Given the description of an element on the screen output the (x, y) to click on. 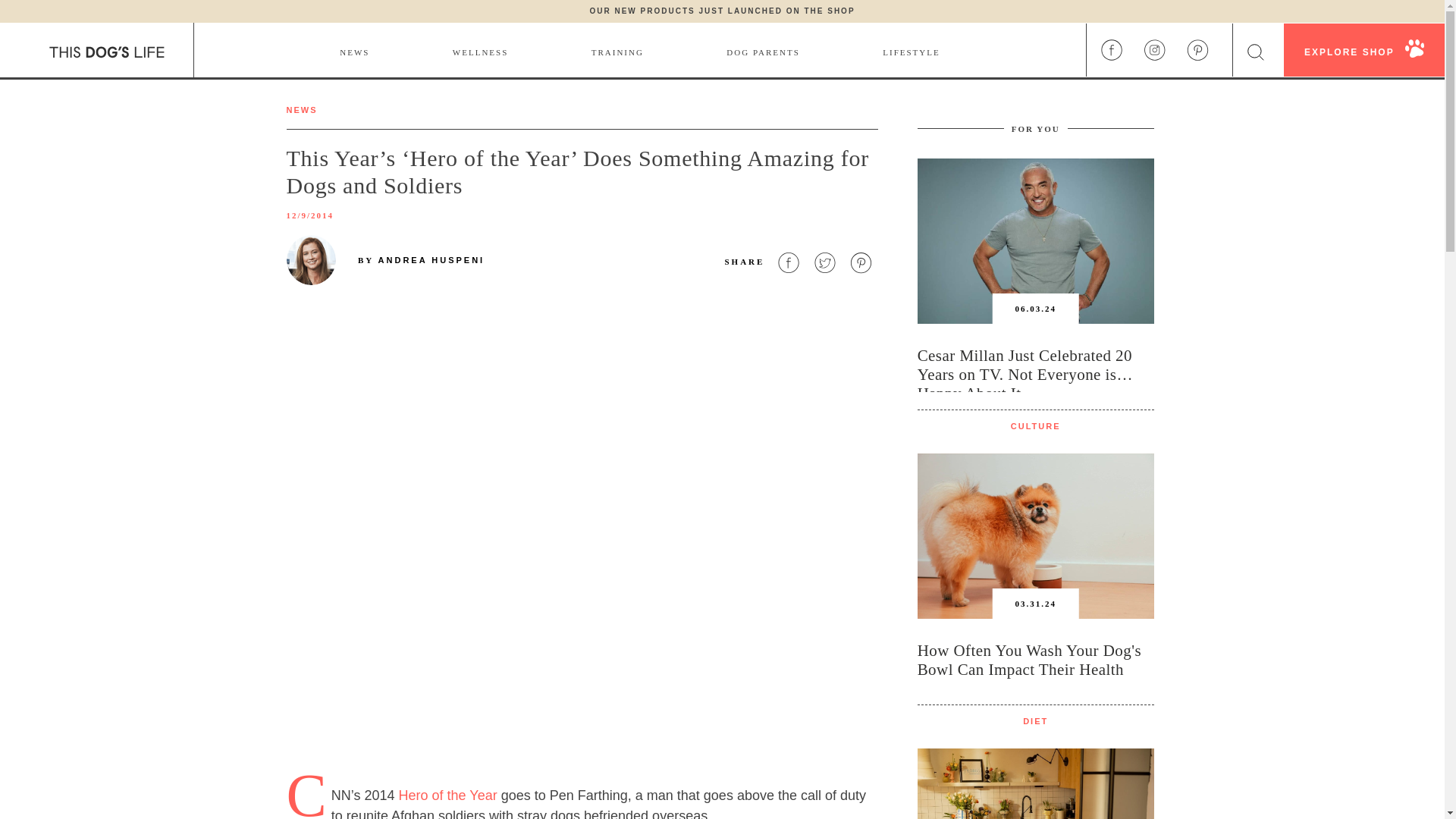
WELLNESS (480, 49)
TRAINING (617, 49)
LIFESTYLE (910, 49)
DOG PARENTS (762, 49)
Go to the News category archives. (301, 109)
